Given the description of an element on the screen output the (x, y) to click on. 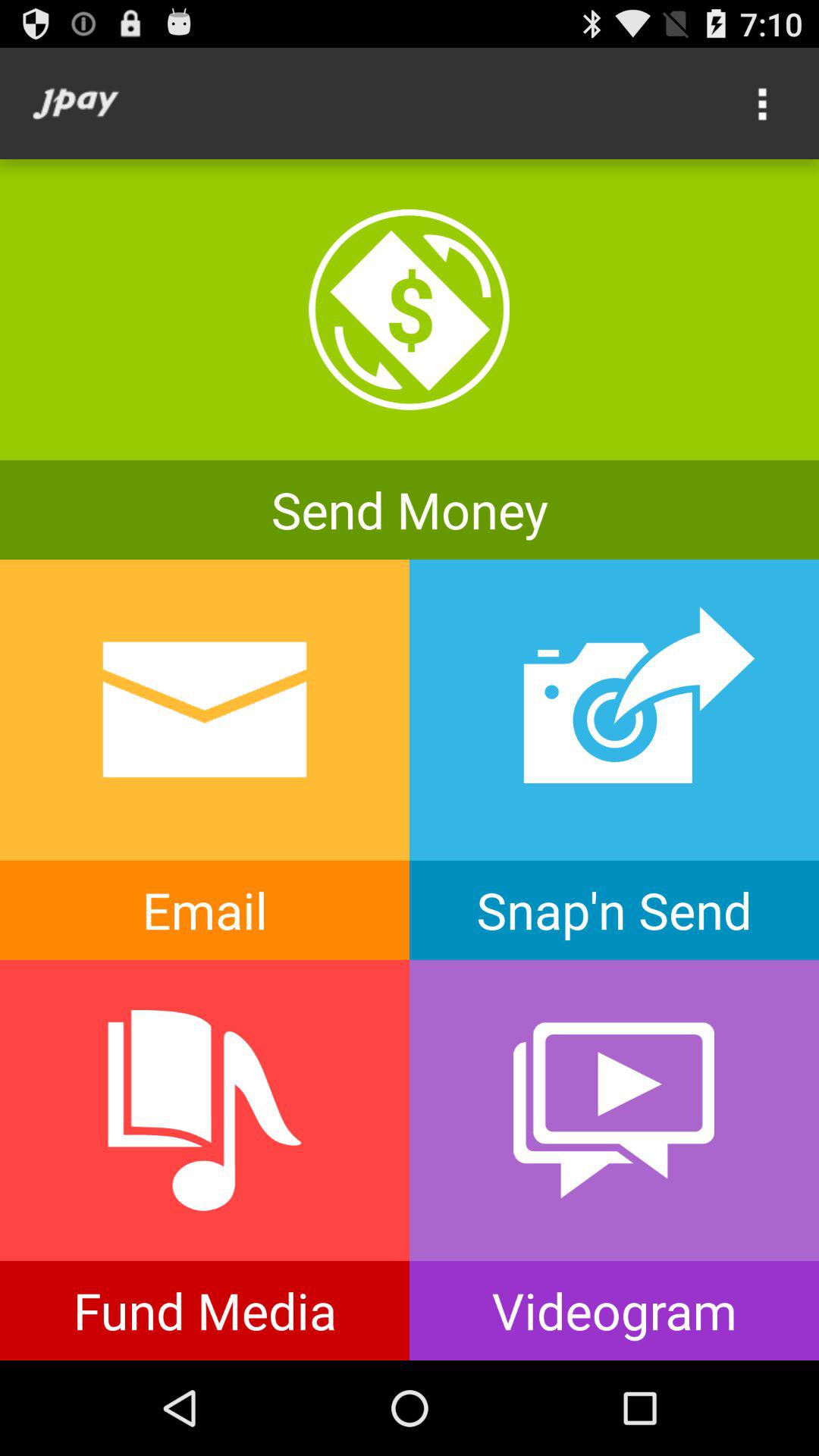
return to home screen (75, 103)
